Given the description of an element on the screen output the (x, y) to click on. 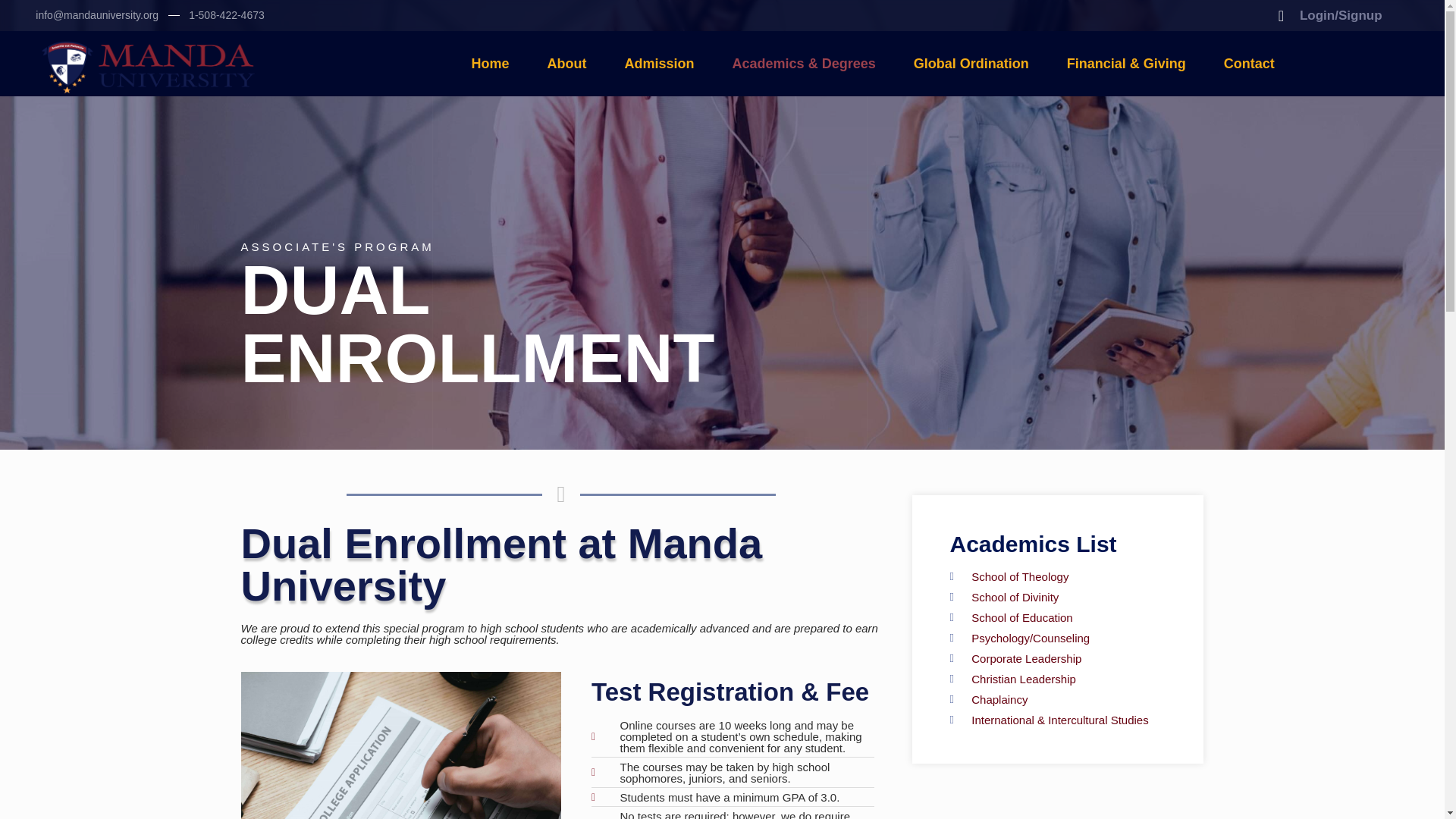
About (566, 63)
Chaplaincy (1057, 699)
School of Divinity (1057, 596)
Admission (659, 63)
Christian Leadership (1057, 678)
Corporate Leadership (1057, 658)
School of Education (1057, 617)
Global Ordination (971, 63)
Home (490, 63)
Contact (1249, 63)
